Given the description of an element on the screen output the (x, y) to click on. 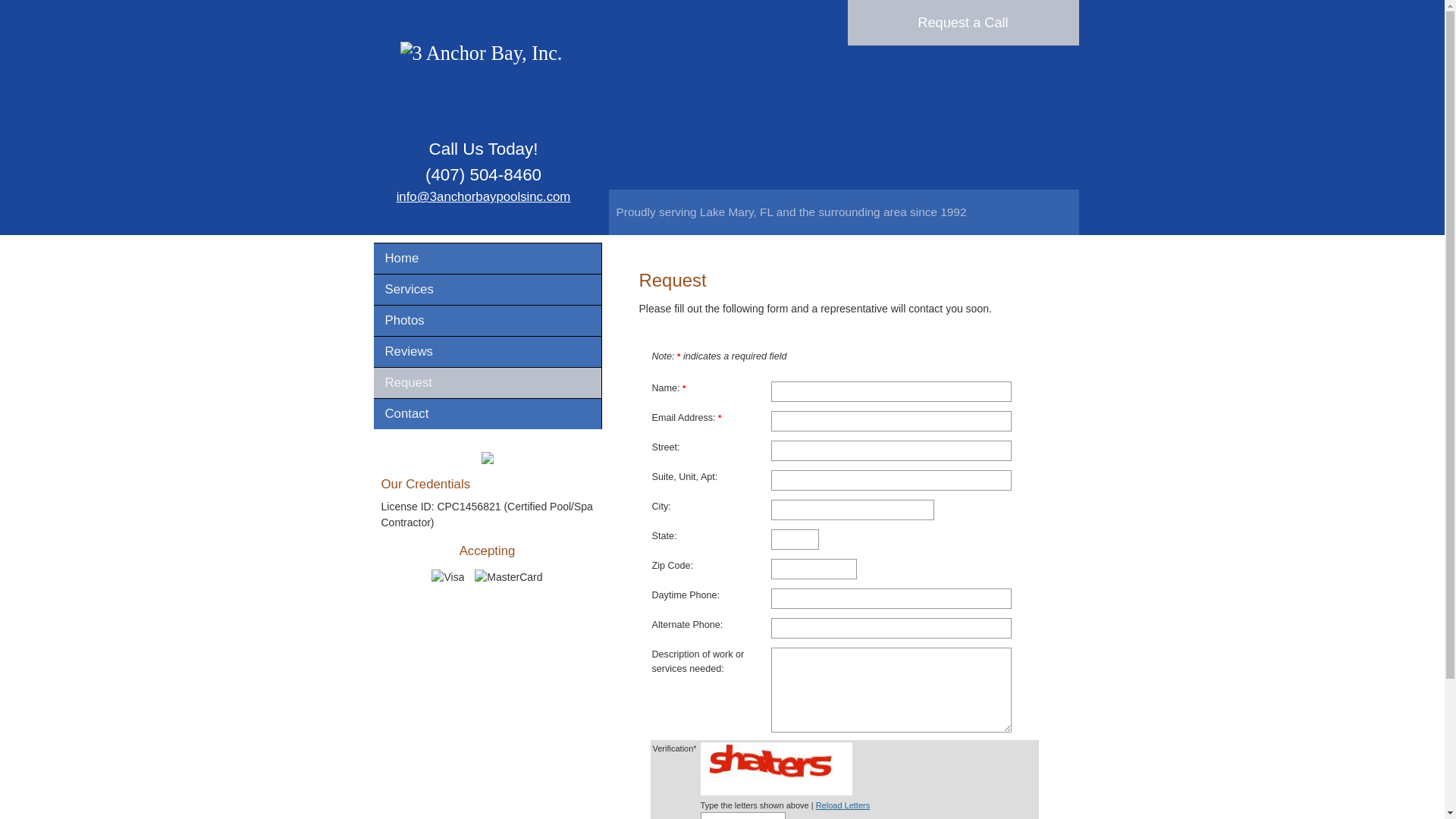
info@3anchorbaypoolsinc.com Element type: text (483, 196)
Reload Letters Element type: text (842, 804)
Request a Call Element type: text (962, 22)
Reviews Element type: text (486, 351)
Home Element type: text (486, 258)
Request Element type: text (486, 382)
3 Anchor Bay, Inc. Element type: hover (482, 53)
Photos Element type: text (486, 320)
Contact Element type: text (486, 413)
Services Element type: text (486, 289)
